Given the description of an element on the screen output the (x, y) to click on. 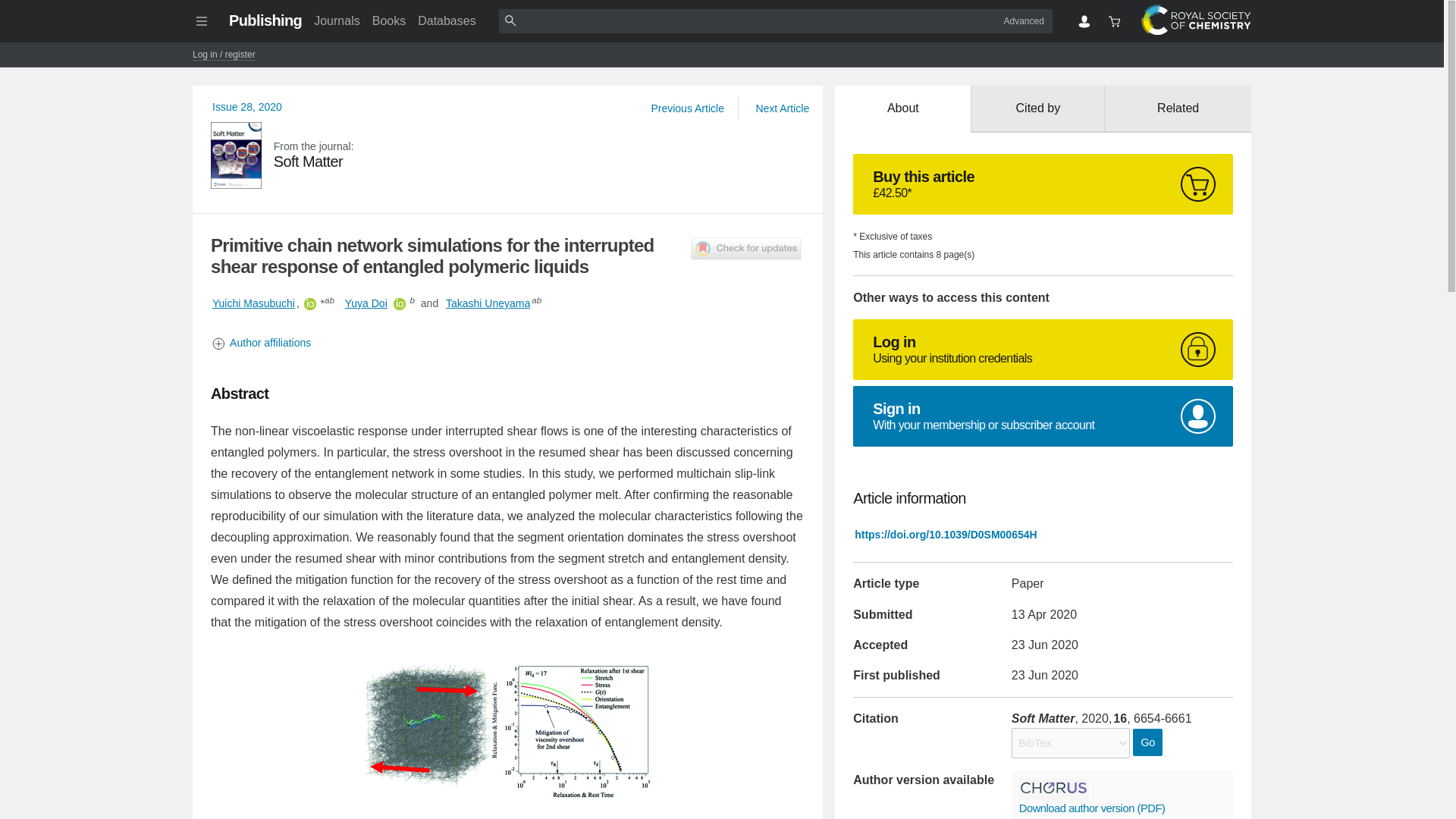
Previous Article (687, 107)
Go (1146, 741)
Next Article (1043, 415)
Journals (781, 107)
Go (336, 20)
Related (1146, 741)
Takashi Uneyama (1177, 108)
Author affiliations (487, 303)
Publishing home page (508, 342)
Cited by (264, 20)
Yuichi Masubuchi (1037, 108)
Link to landing page via DOI (254, 303)
Yuya Doi (945, 534)
